Given the description of an element on the screen output the (x, y) to click on. 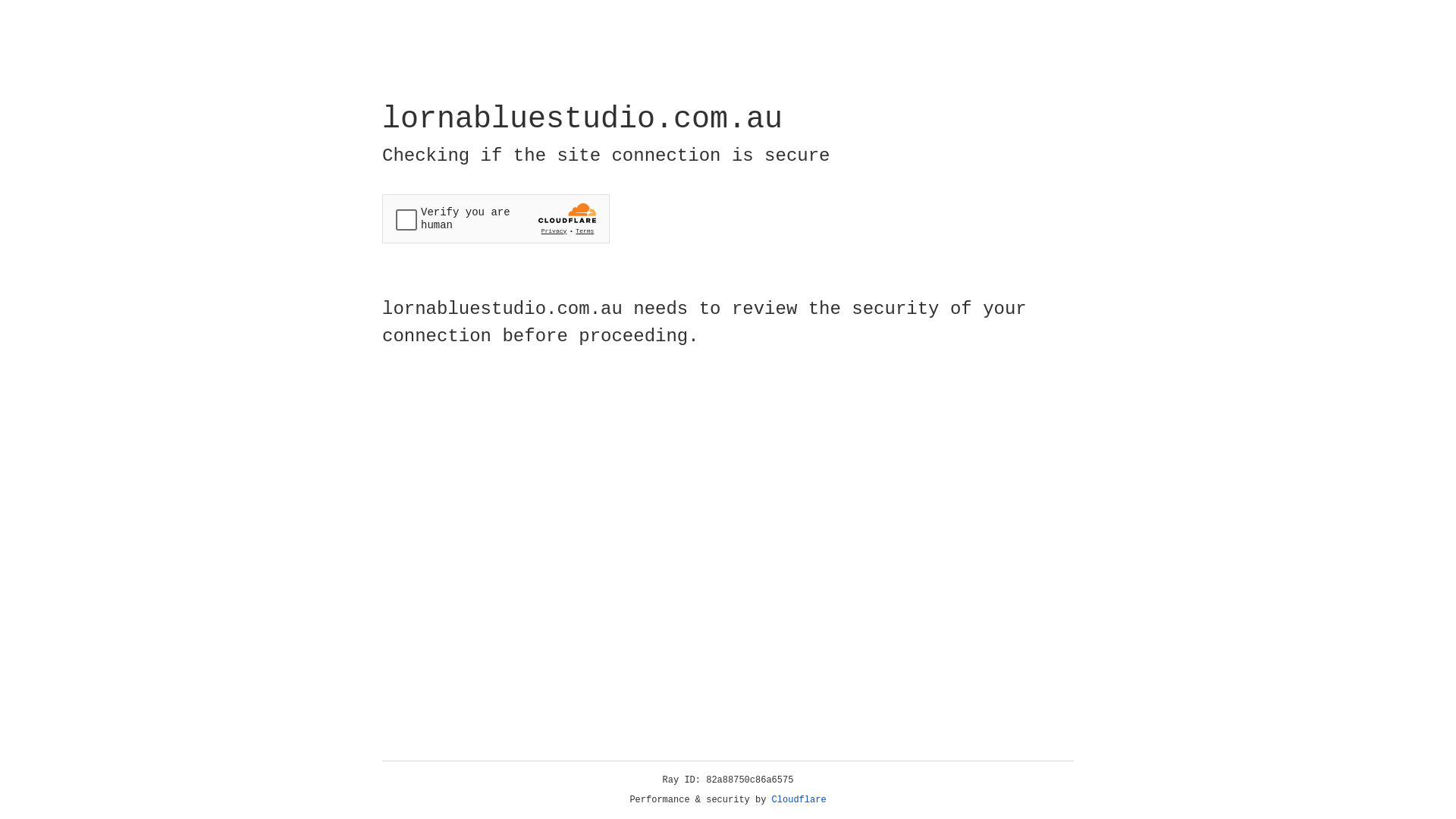
Cloudflare Element type: text (798, 799)
Widget containing a Cloudflare security challenge Element type: hover (495, 218)
